Given the description of an element on the screen output the (x, y) to click on. 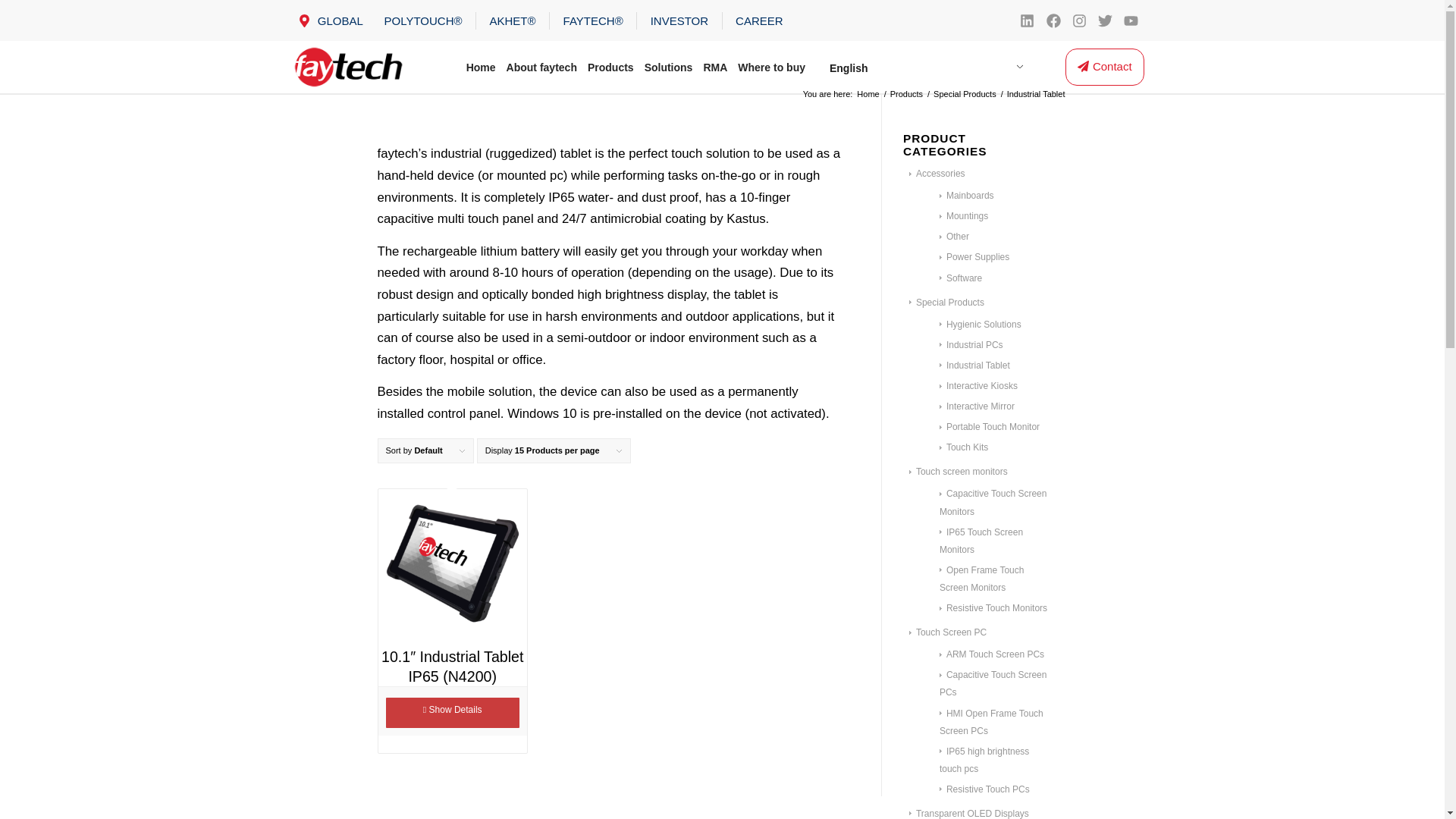
CAREER (759, 20)
faytech AG (867, 93)
Special Products (964, 93)
Home (480, 67)
INVESTOR (678, 20)
Products (906, 93)
English (922, 68)
About faytech (541, 67)
Products (610, 67)
